Given the description of an element on the screen output the (x, y) to click on. 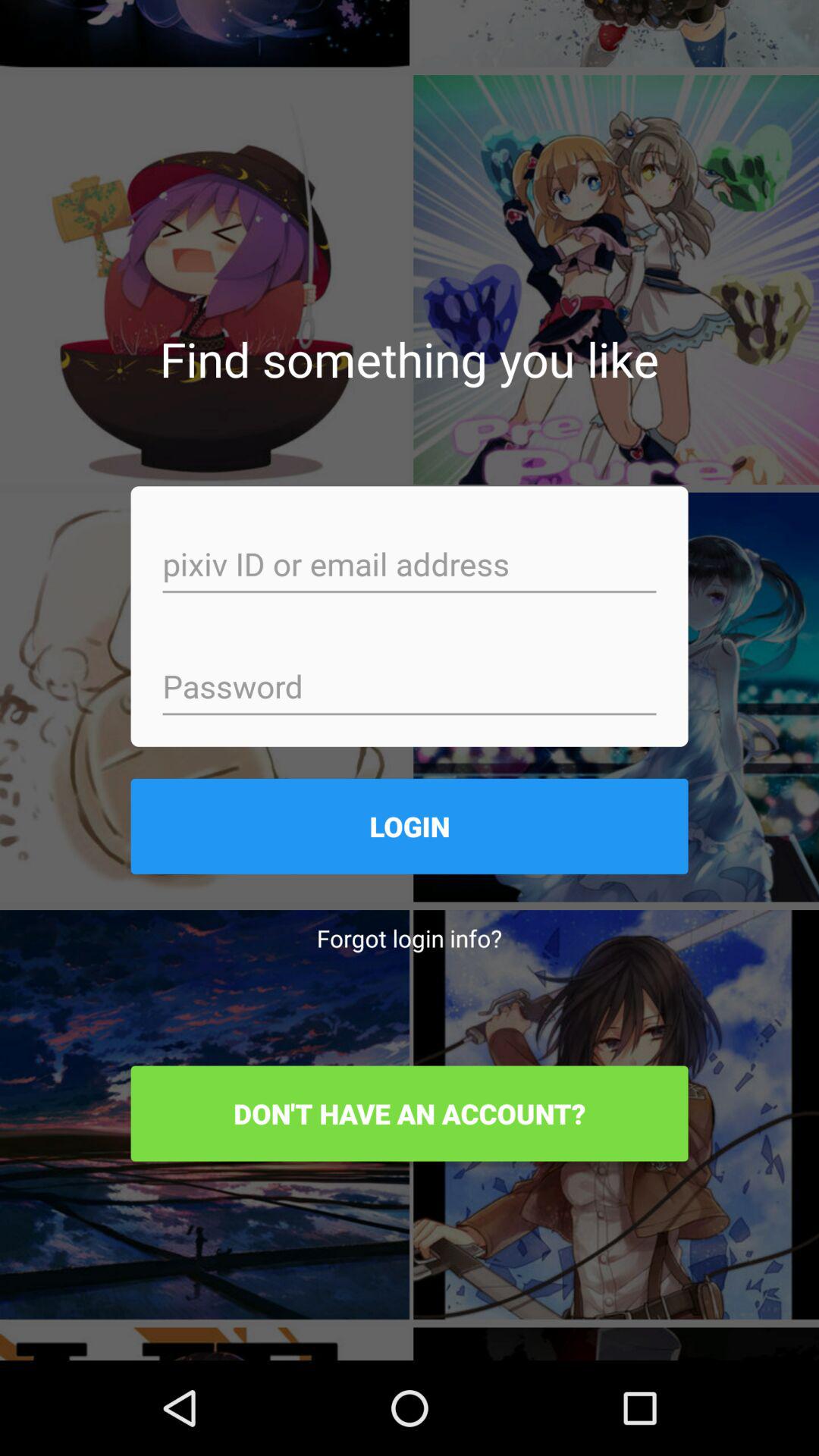
type email address (409, 565)
